Given the description of an element on the screen output the (x, y) to click on. 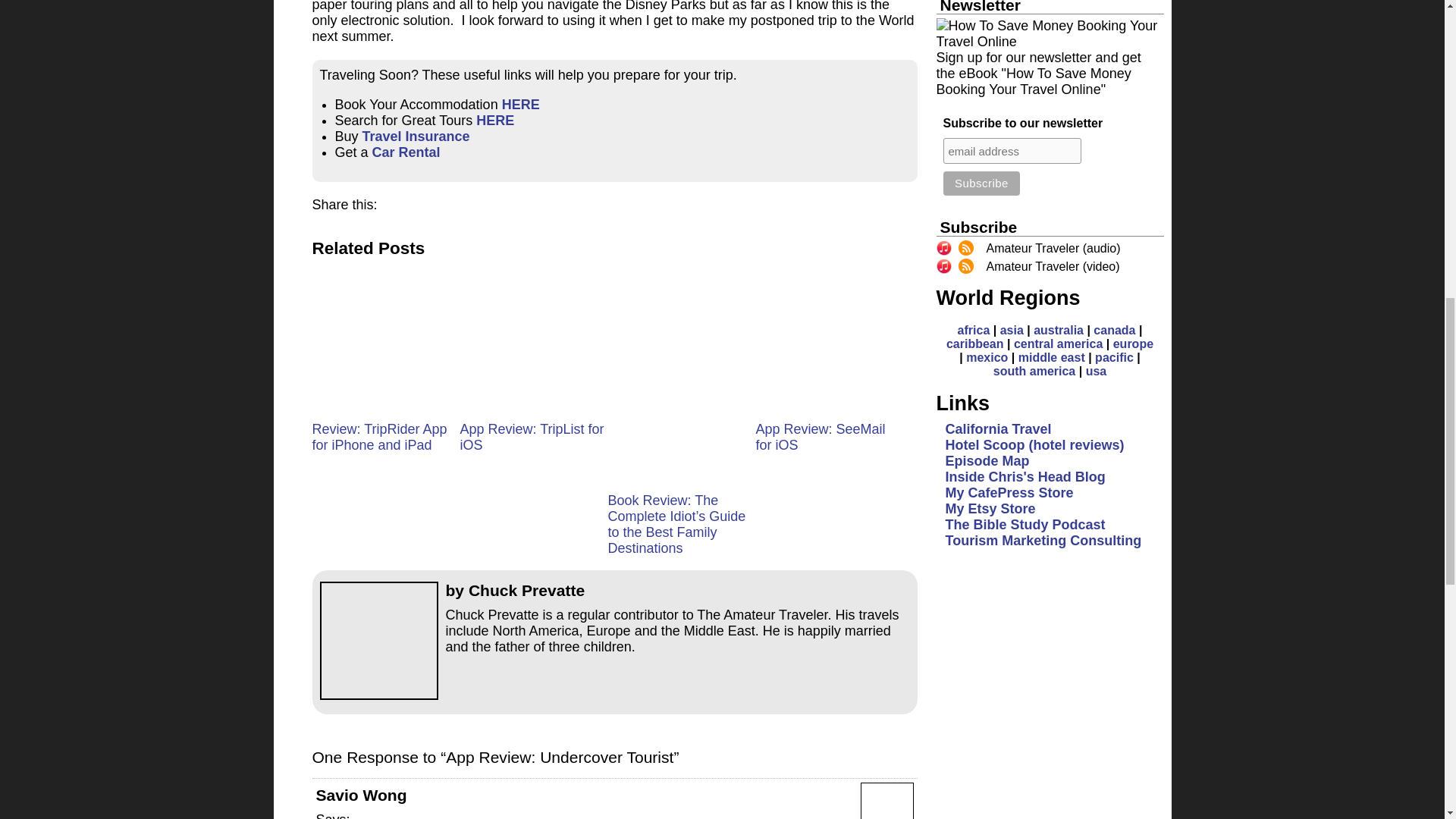
Car Rental (406, 151)
HERE (521, 104)
Subscribe (981, 183)
Travel Insurance (416, 136)
HERE (494, 120)
